Given the description of an element on the screen output the (x, y) to click on. 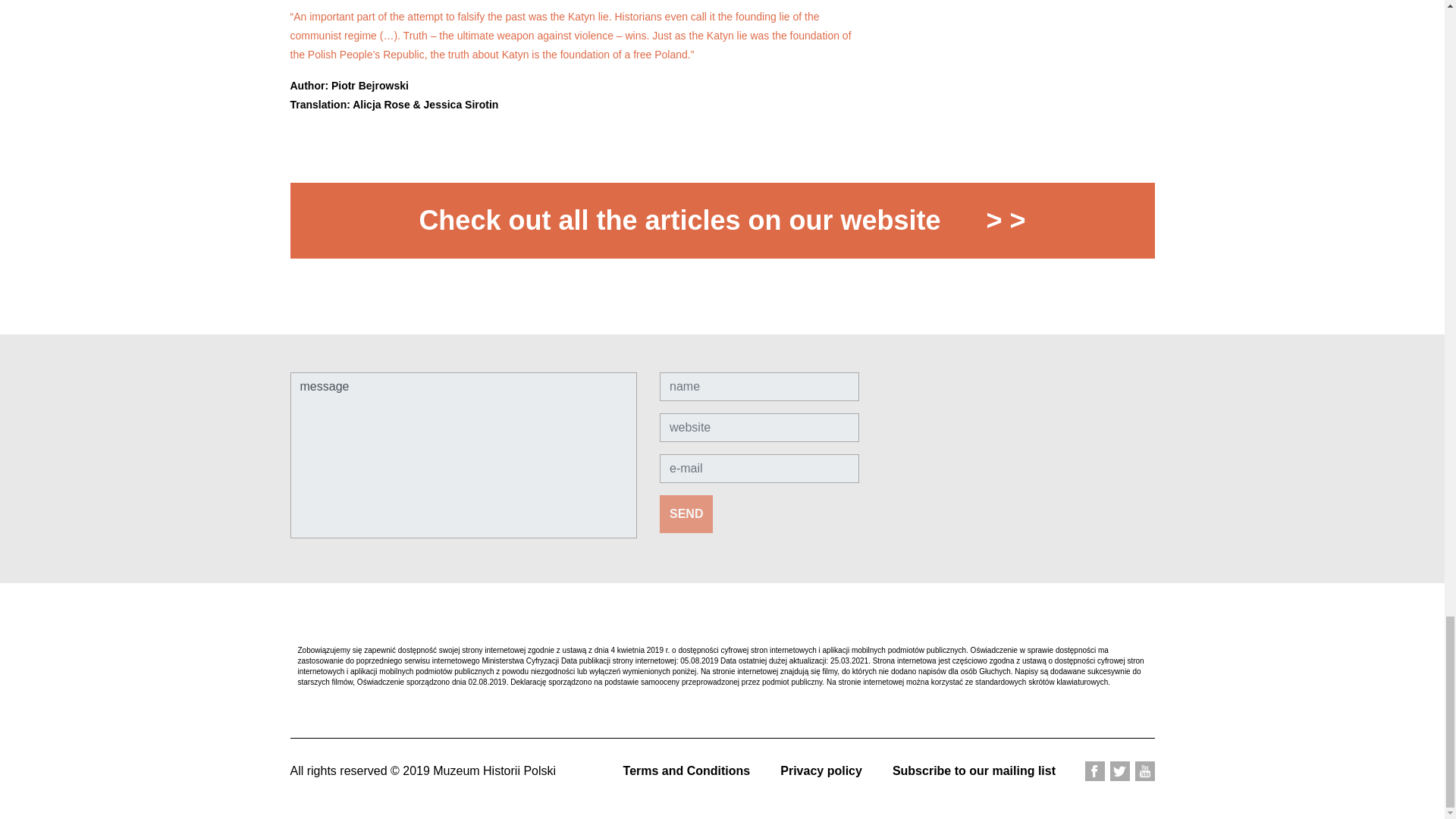
SEND (686, 514)
Privacy policy (820, 770)
Subscribe to our mailing list (973, 770)
Terms and Conditions (687, 770)
